Given the description of an element on the screen output the (x, y) to click on. 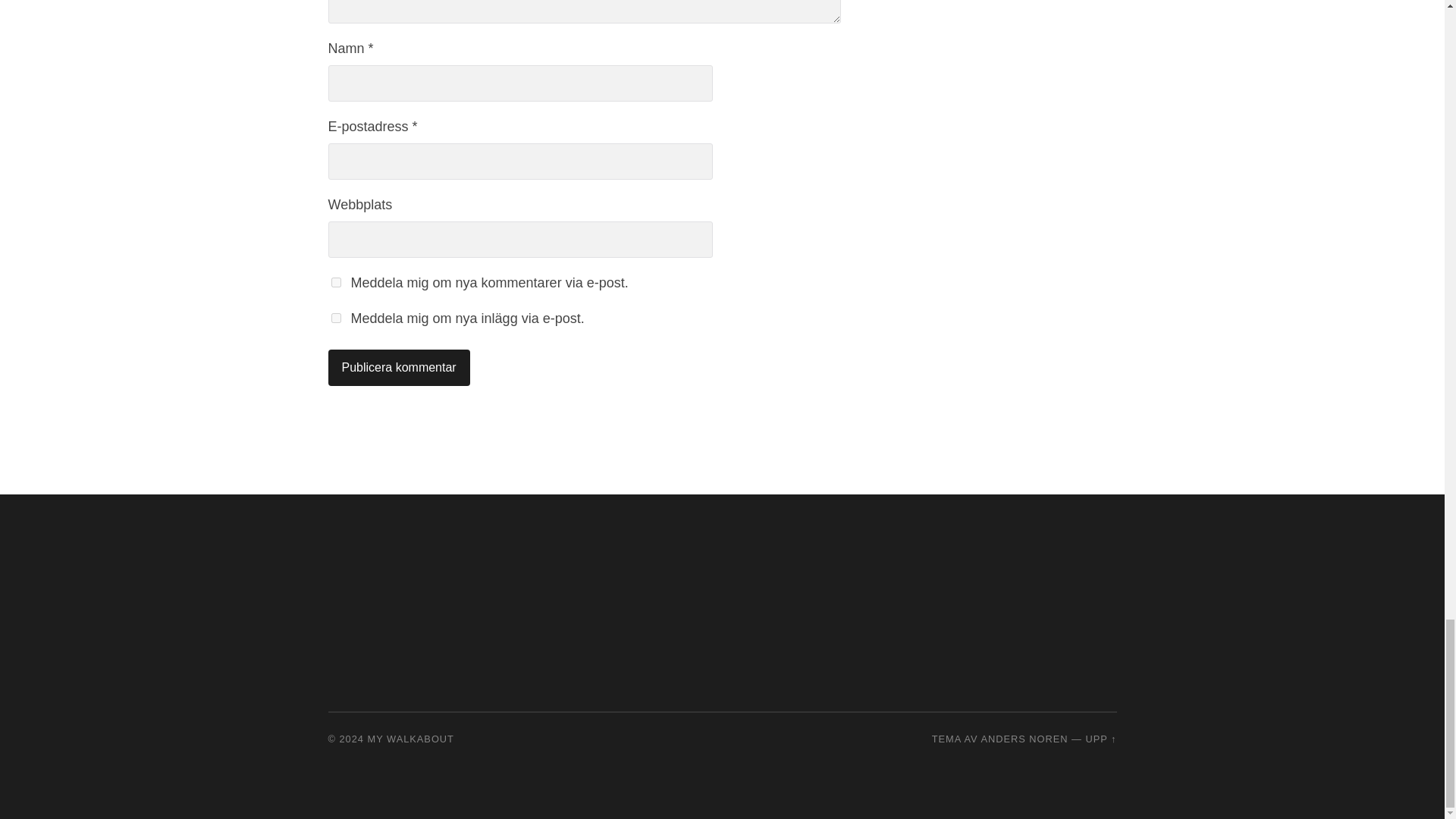
Till toppen (1100, 738)
Publicera kommentar (397, 367)
subscribe (335, 317)
subscribe (335, 282)
